Given the description of an element on the screen output the (x, y) to click on. 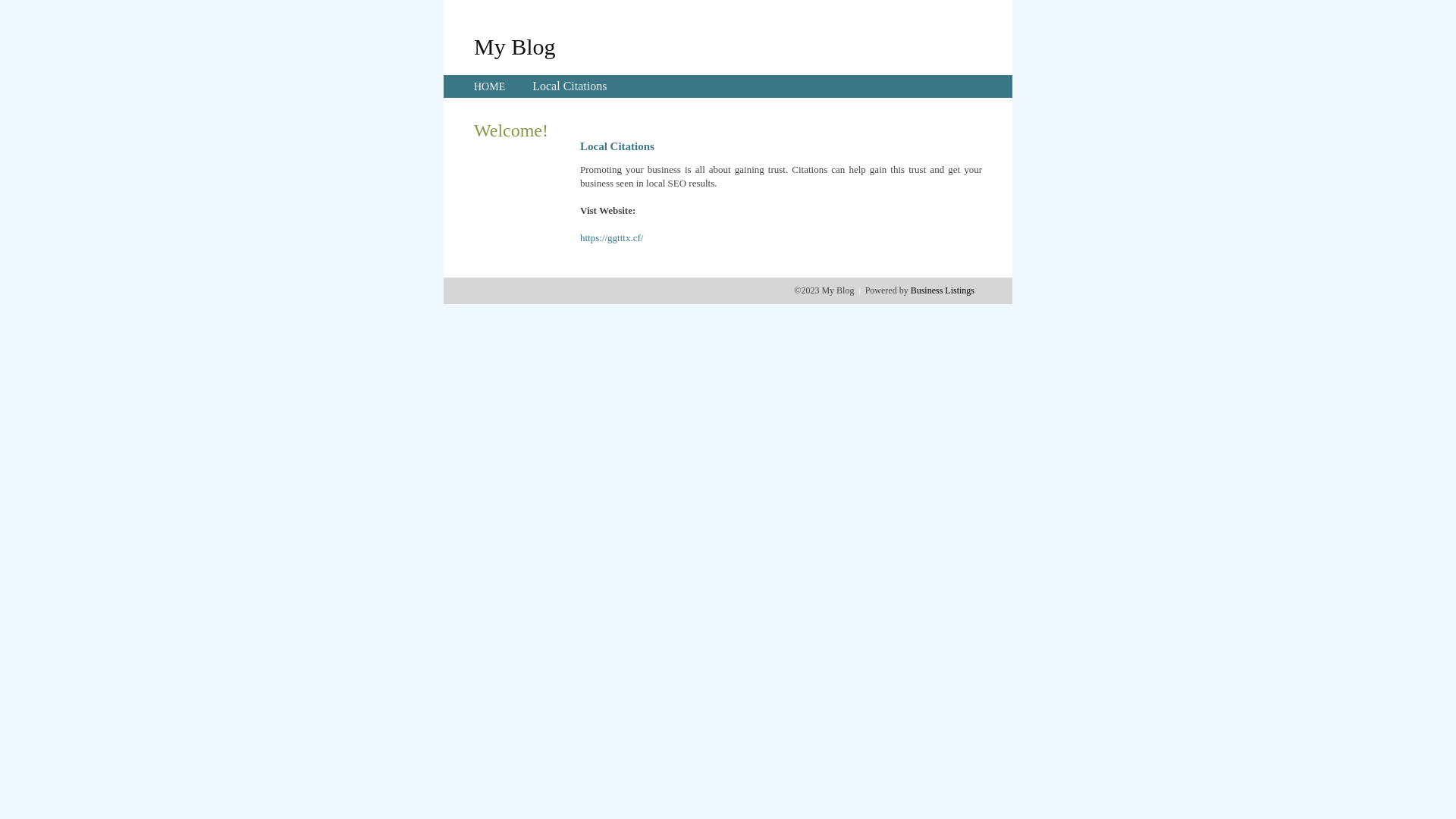
Local Citations Element type: text (569, 85)
Business Listings Element type: text (942, 290)
https://ggtttx.cf/ Element type: text (611, 237)
HOME Element type: text (489, 86)
My Blog Element type: text (514, 46)
